Given the description of an element on the screen output the (x, y) to click on. 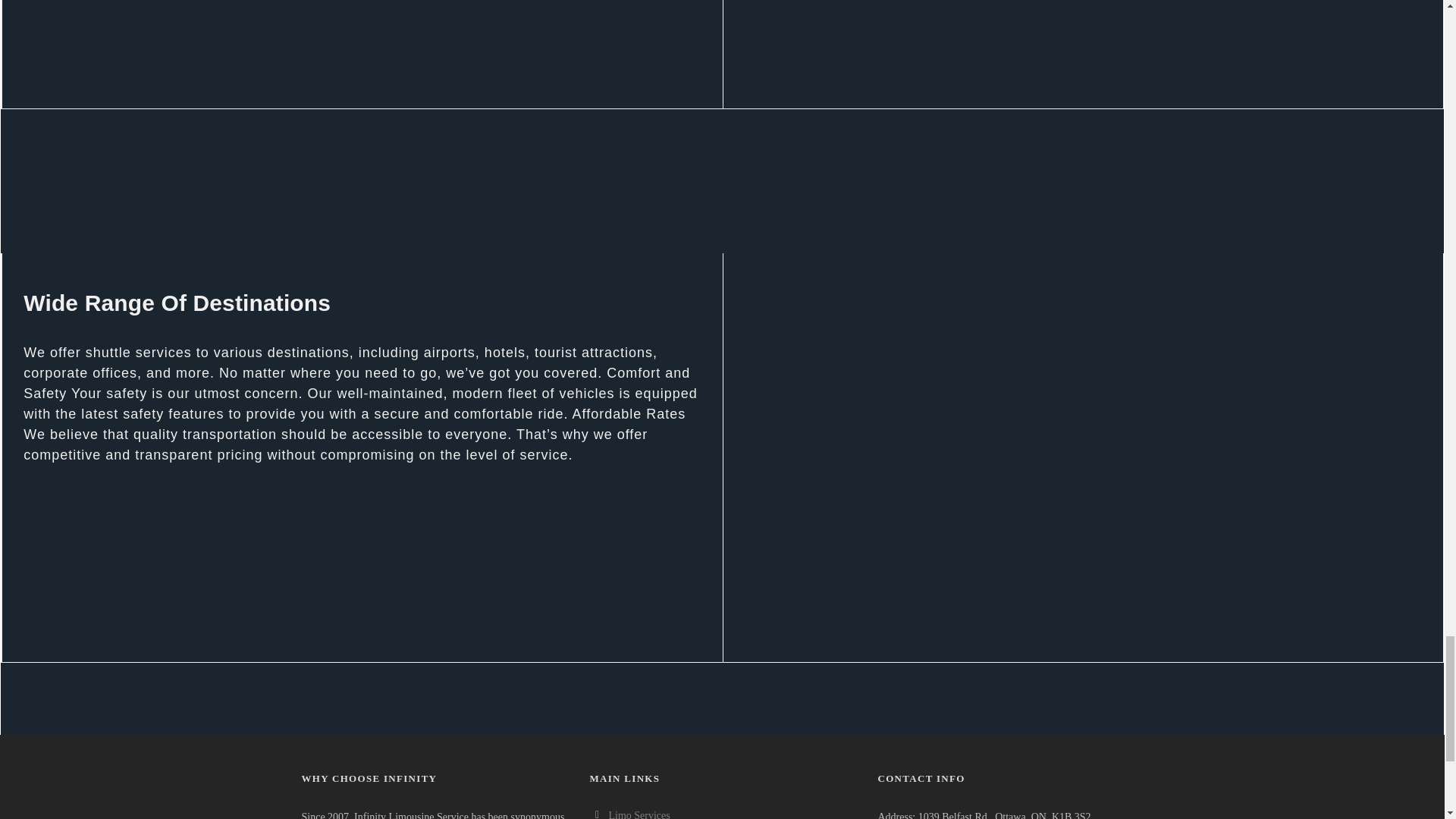
Limo Services (638, 814)
